Given the description of an element on the screen output the (x, y) to click on. 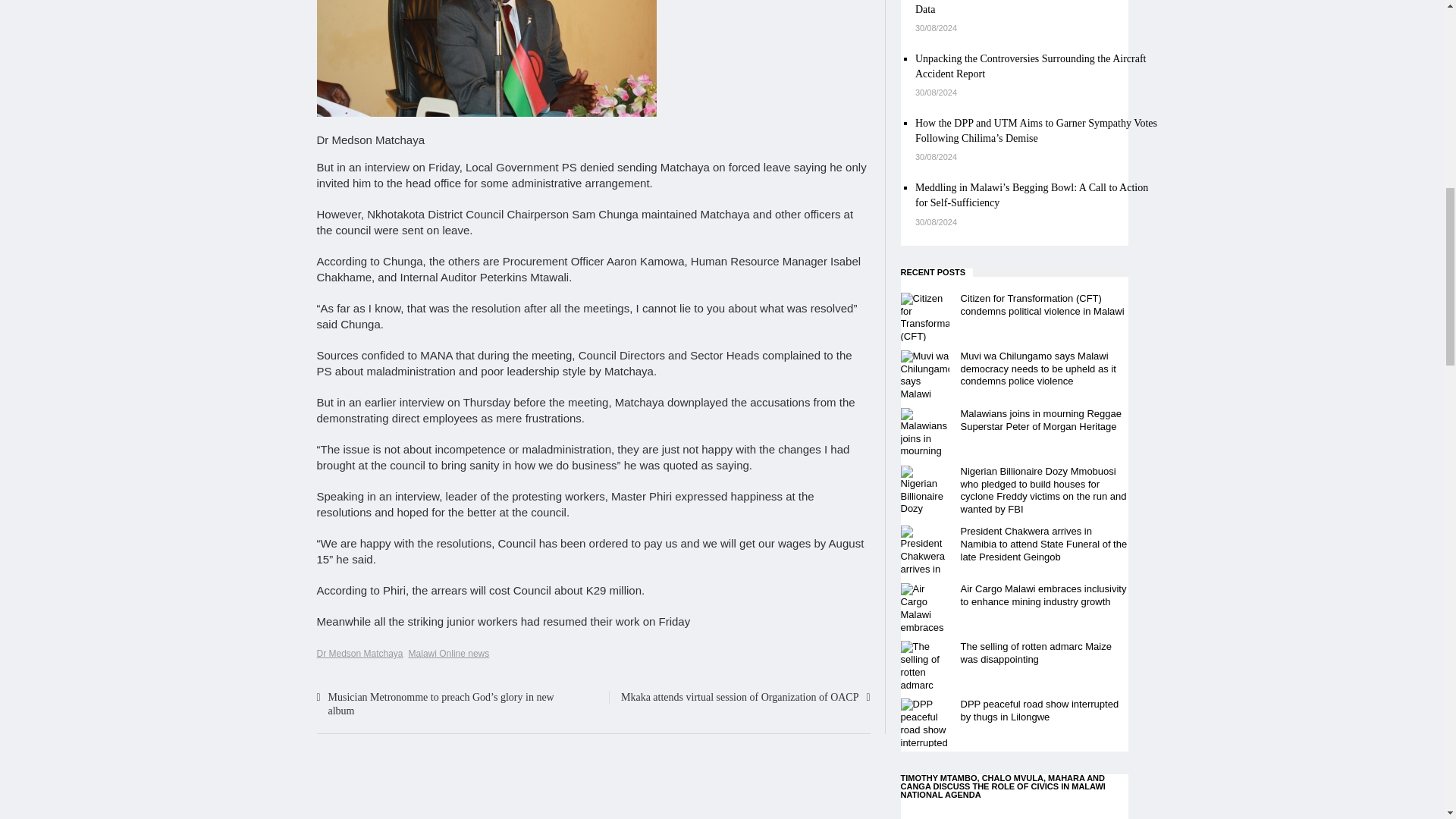
Malawi Online news (449, 653)
Dr Medson Matchaya (360, 653)
